Given the description of an element on the screen output the (x, y) to click on. 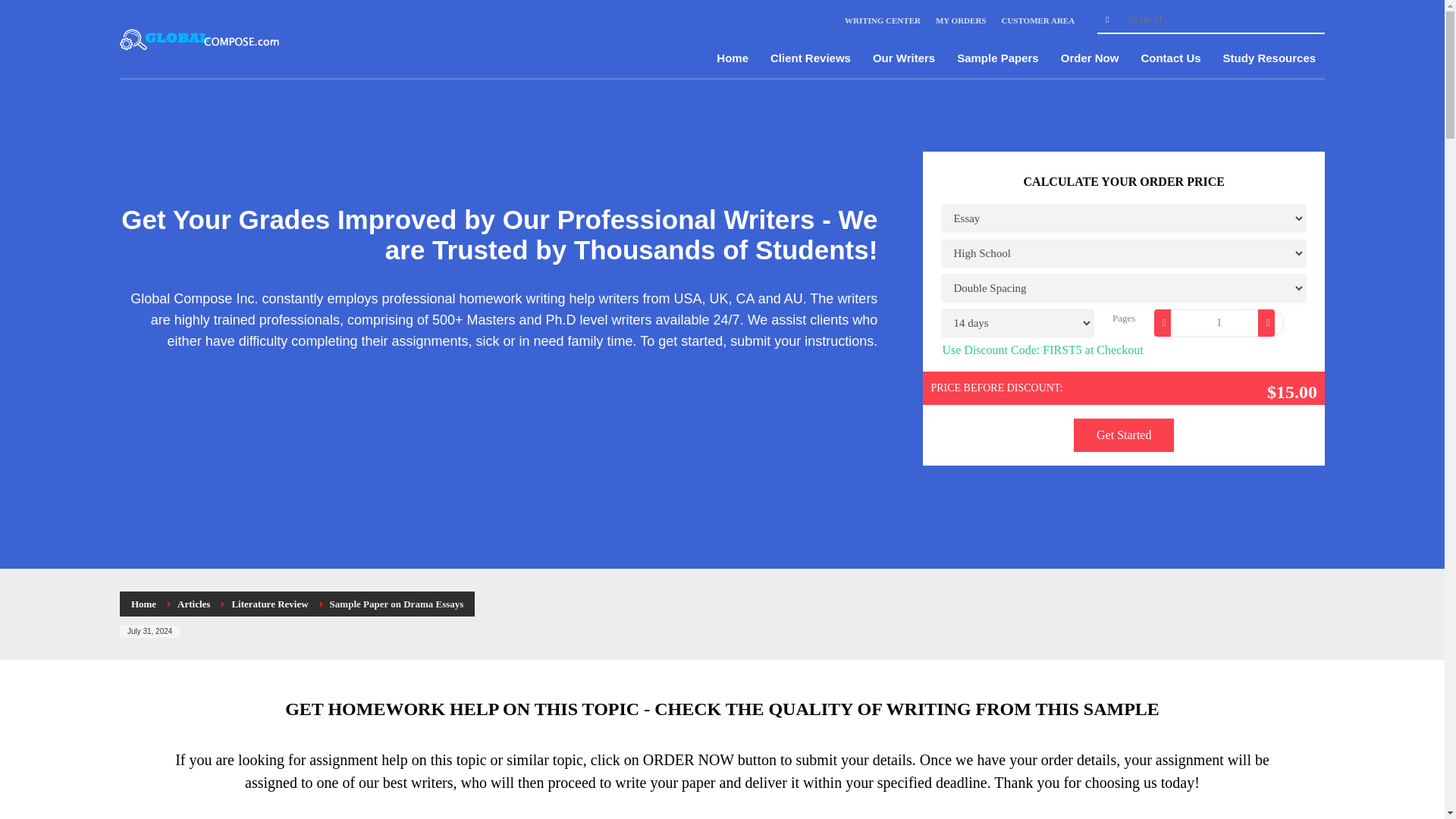
Our Writers (903, 57)
WRITING CENTER (882, 20)
CUSTOMER AREA (1037, 20)
MY ORDERS (961, 20)
Sample Papers (997, 57)
Client Reviews (810, 57)
1 (1219, 322)
go (1107, 19)
Literature Review (269, 603)
Articles (193, 603)
Order Now (1089, 57)
Articles (193, 603)
Contact Us (1170, 57)
Study Resources (1269, 57)
Get Started (1123, 435)
